Given the description of an element on the screen output the (x, y) to click on. 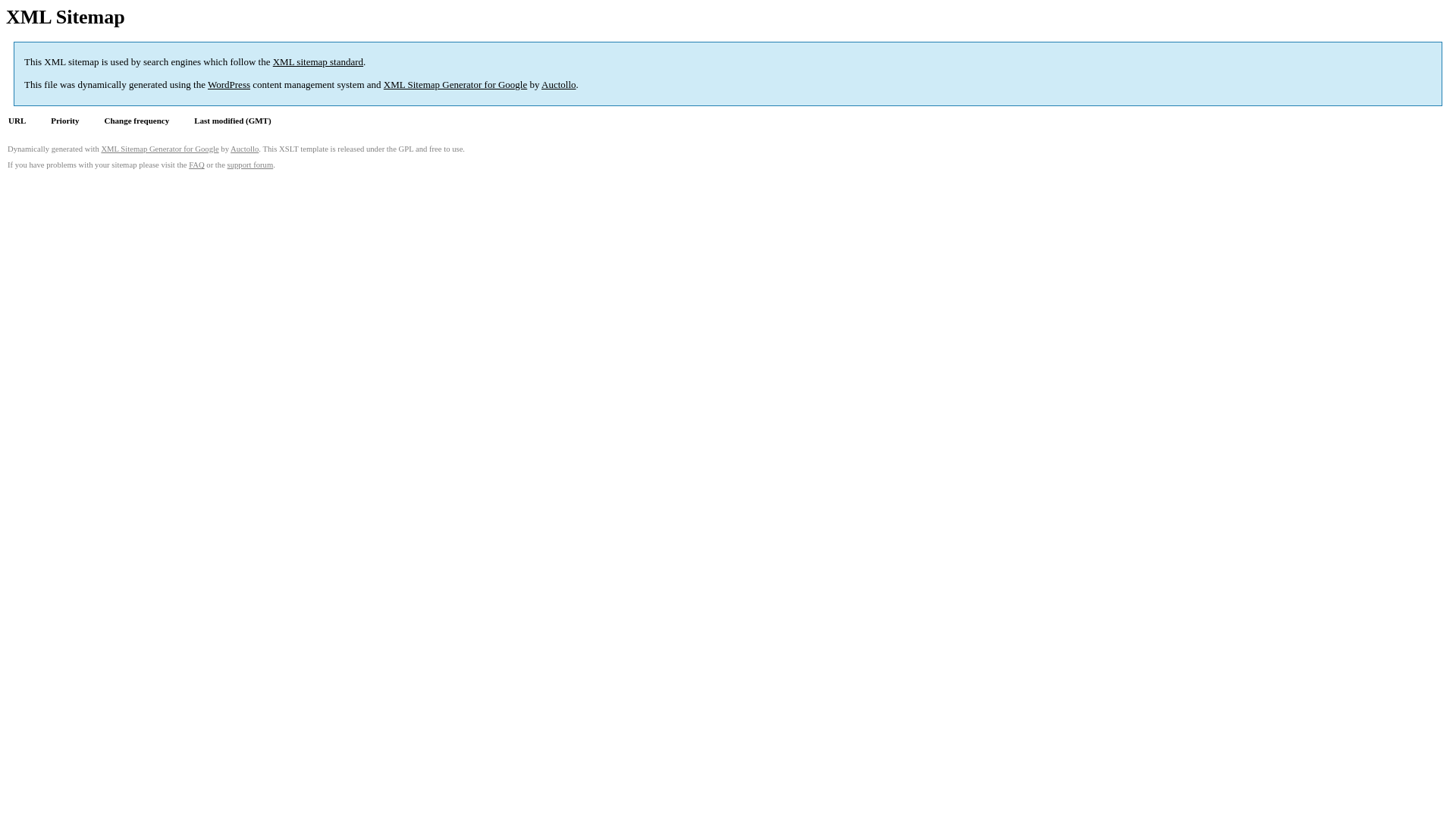
XML sitemap standard Element type: text (318, 61)
Auctollo Element type: text (244, 148)
FAQ Element type: text (196, 164)
support forum Element type: text (250, 164)
XML Sitemap Generator for Google Element type: text (455, 84)
Auctollo Element type: text (558, 84)
WordPress Element type: text (228, 84)
XML Sitemap Generator for Google Element type: text (159, 148)
